Given the description of an element on the screen output the (x, y) to click on. 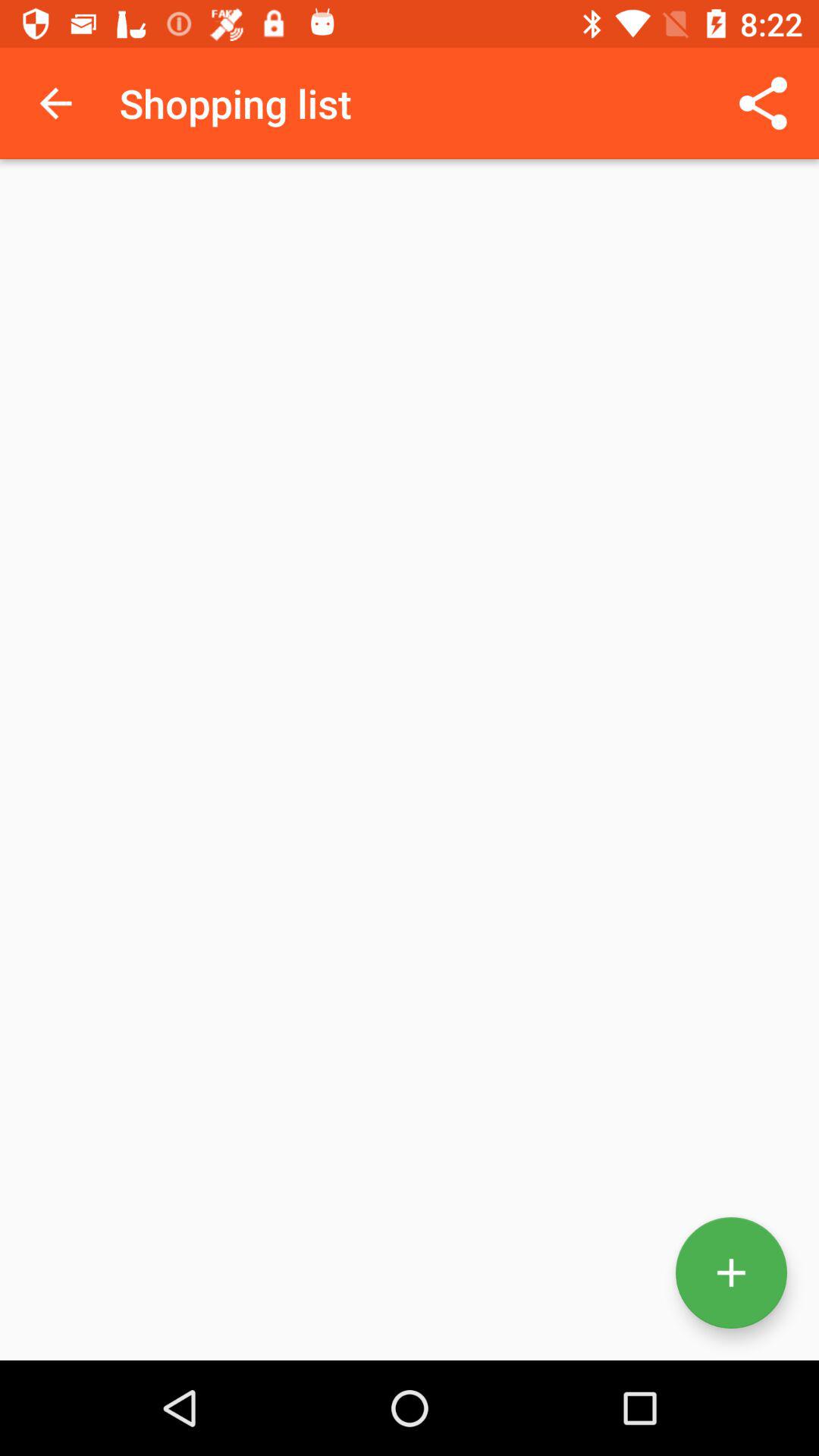
open app next to the shopping list app (763, 103)
